Given the description of an element on the screen output the (x, y) to click on. 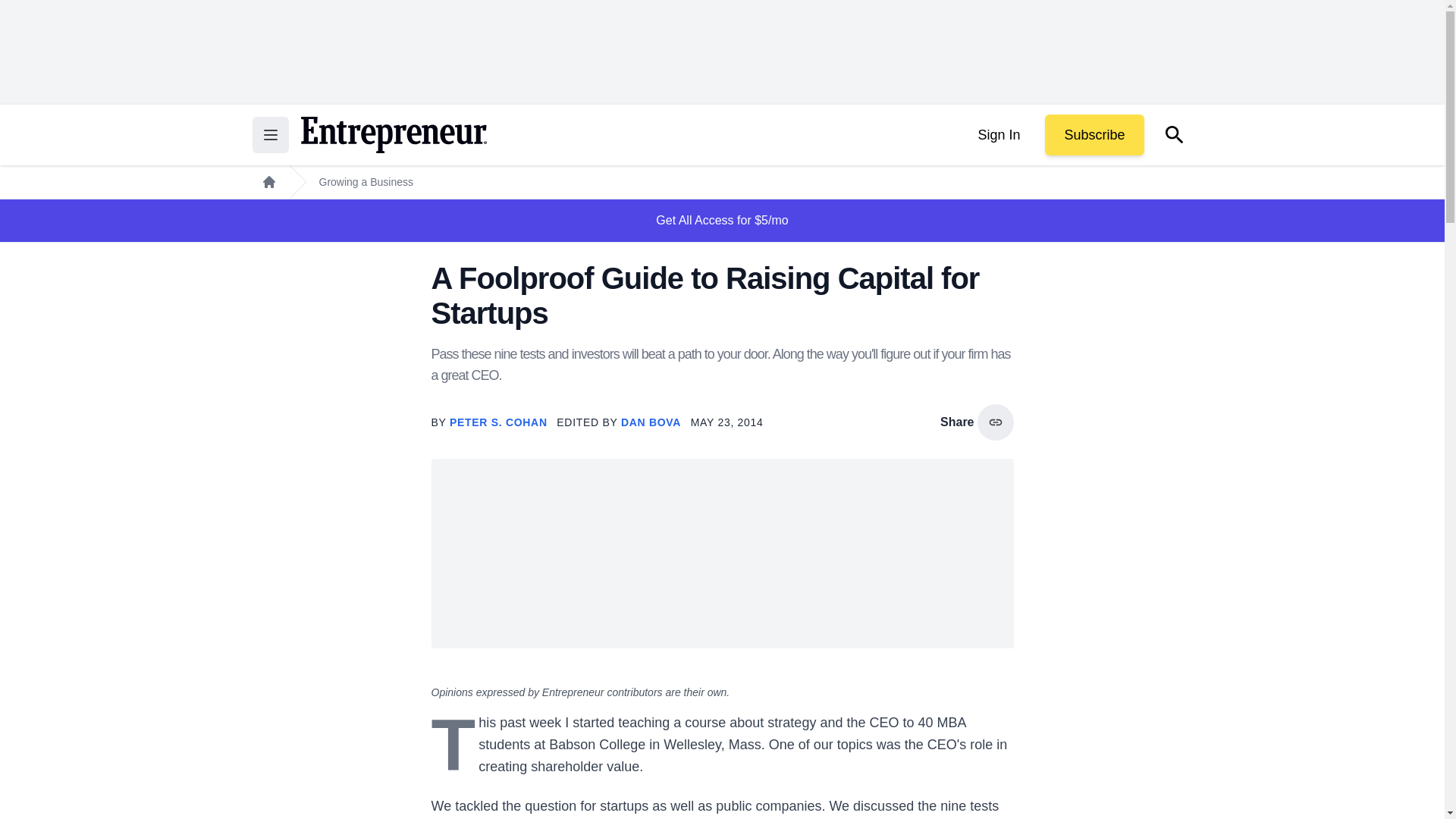
Return to the home page (392, 135)
Sign In (998, 134)
Subscribe (1093, 134)
copy (994, 422)
